Given the description of an element on the screen output the (x, y) to click on. 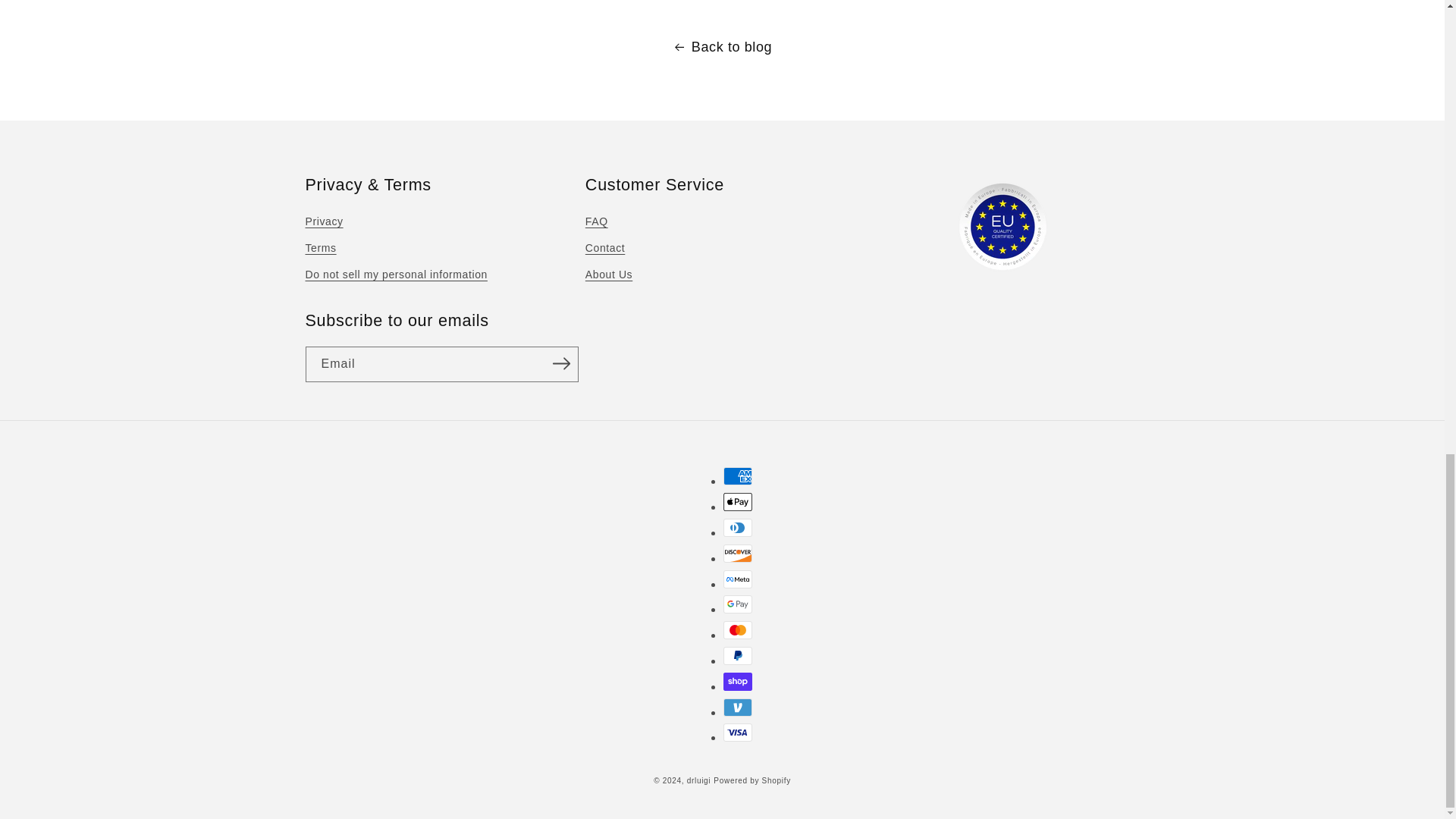
Shop Pay (737, 681)
Diners Club (737, 527)
Apple Pay (737, 502)
Mastercard (737, 629)
Do not sell my personal information (395, 274)
Visa (737, 732)
American Express (737, 475)
FAQ (596, 223)
Venmo (737, 707)
Terms (320, 248)
Meta Pay (737, 579)
Powered by Shopify (751, 780)
Google Pay (737, 604)
Privacy (323, 223)
About Us (608, 274)
